Given the description of an element on the screen output the (x, y) to click on. 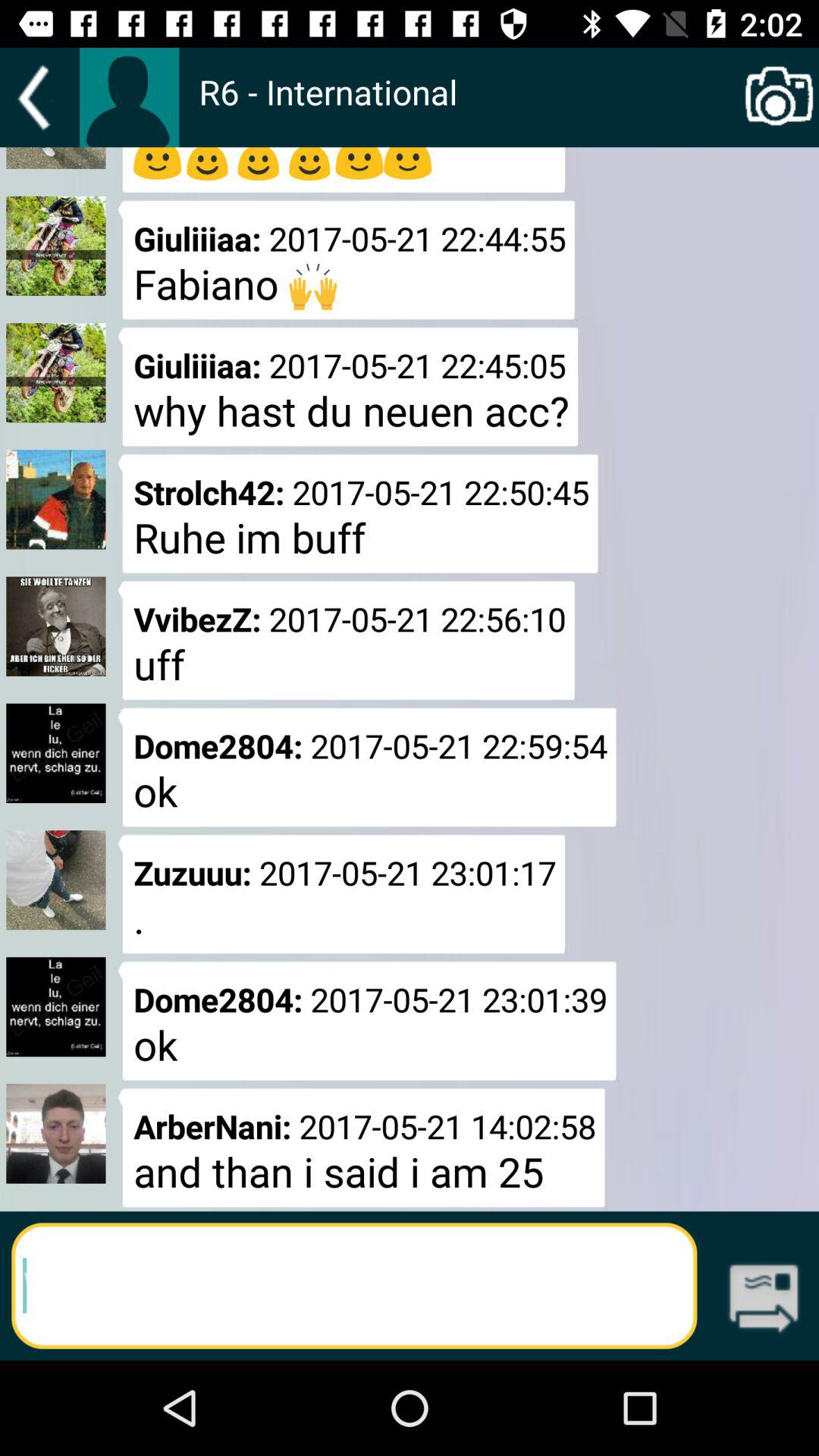
open the item above dome2804 2017 05 item (346, 639)
